Given the description of an element on the screen output the (x, y) to click on. 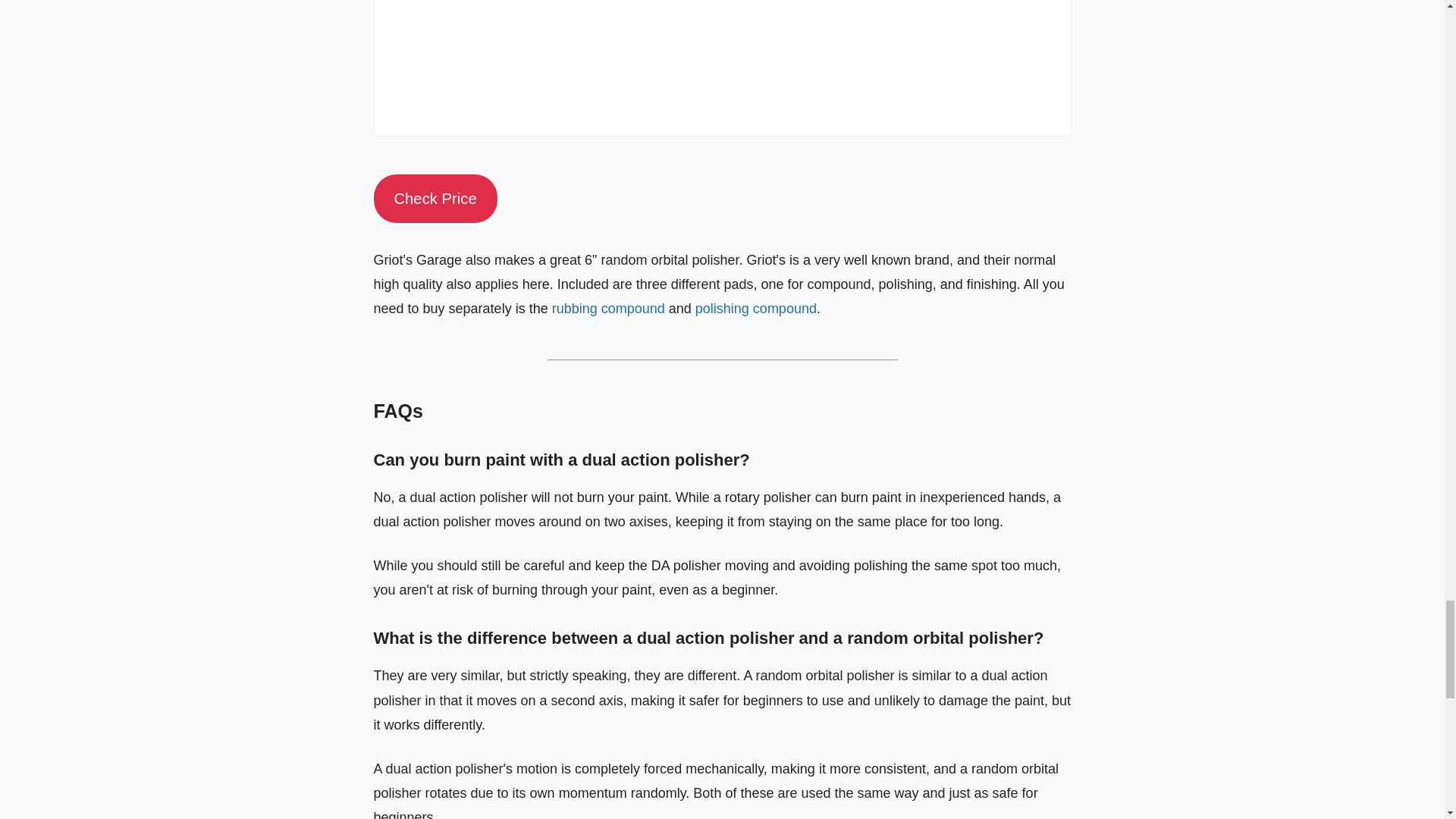
rubbing compound (608, 308)
Check Price (434, 197)
polishing compound (755, 308)
